Given the description of an element on the screen output the (x, y) to click on. 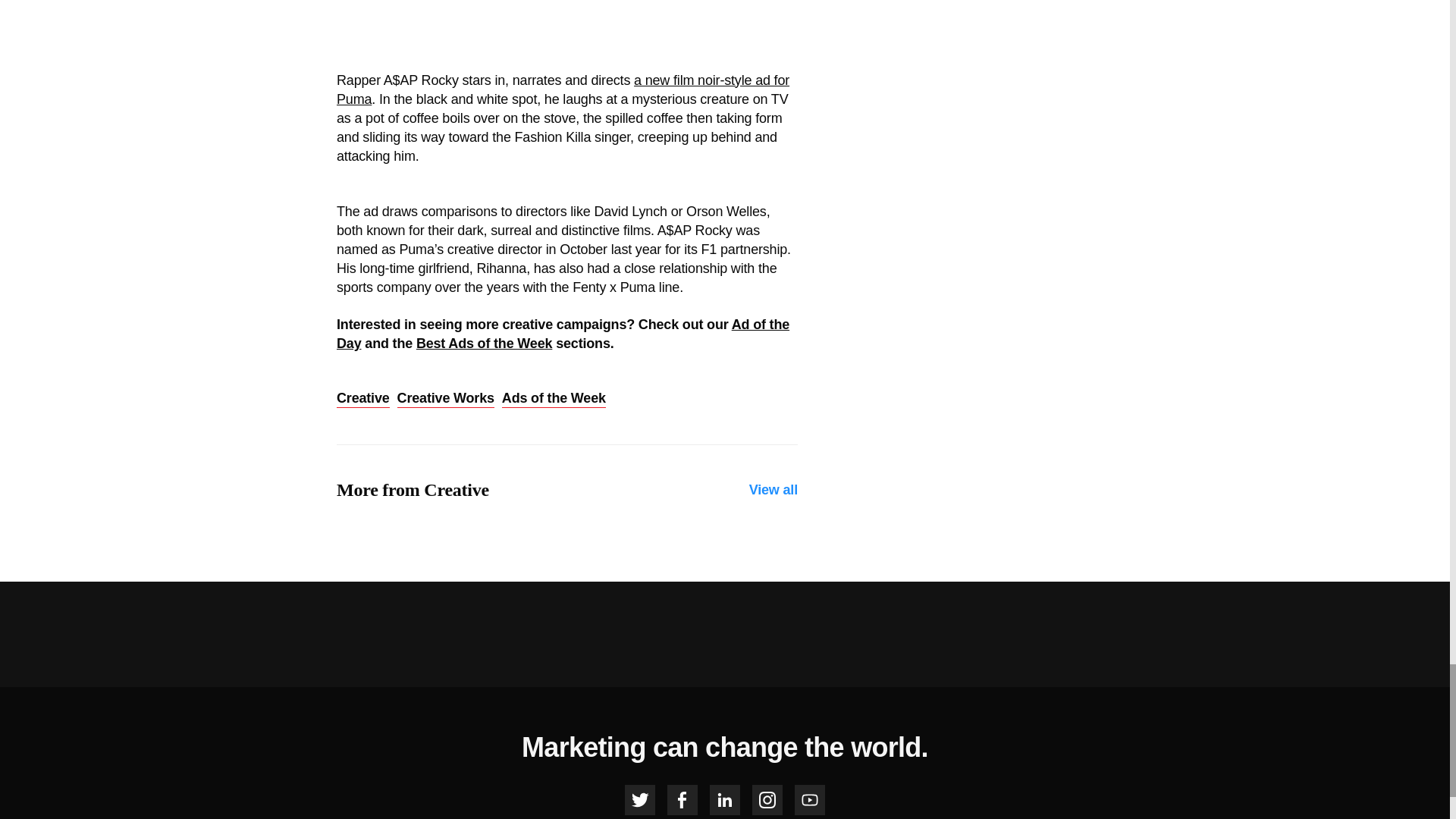
Ad of the Day (562, 333)
a new film noir-style ad for Puma (562, 89)
Ads of the Week (553, 398)
Creative (363, 398)
Best Ads of the Week (483, 343)
View all (773, 489)
Creative Works (446, 398)
